Given the description of an element on the screen output the (x, y) to click on. 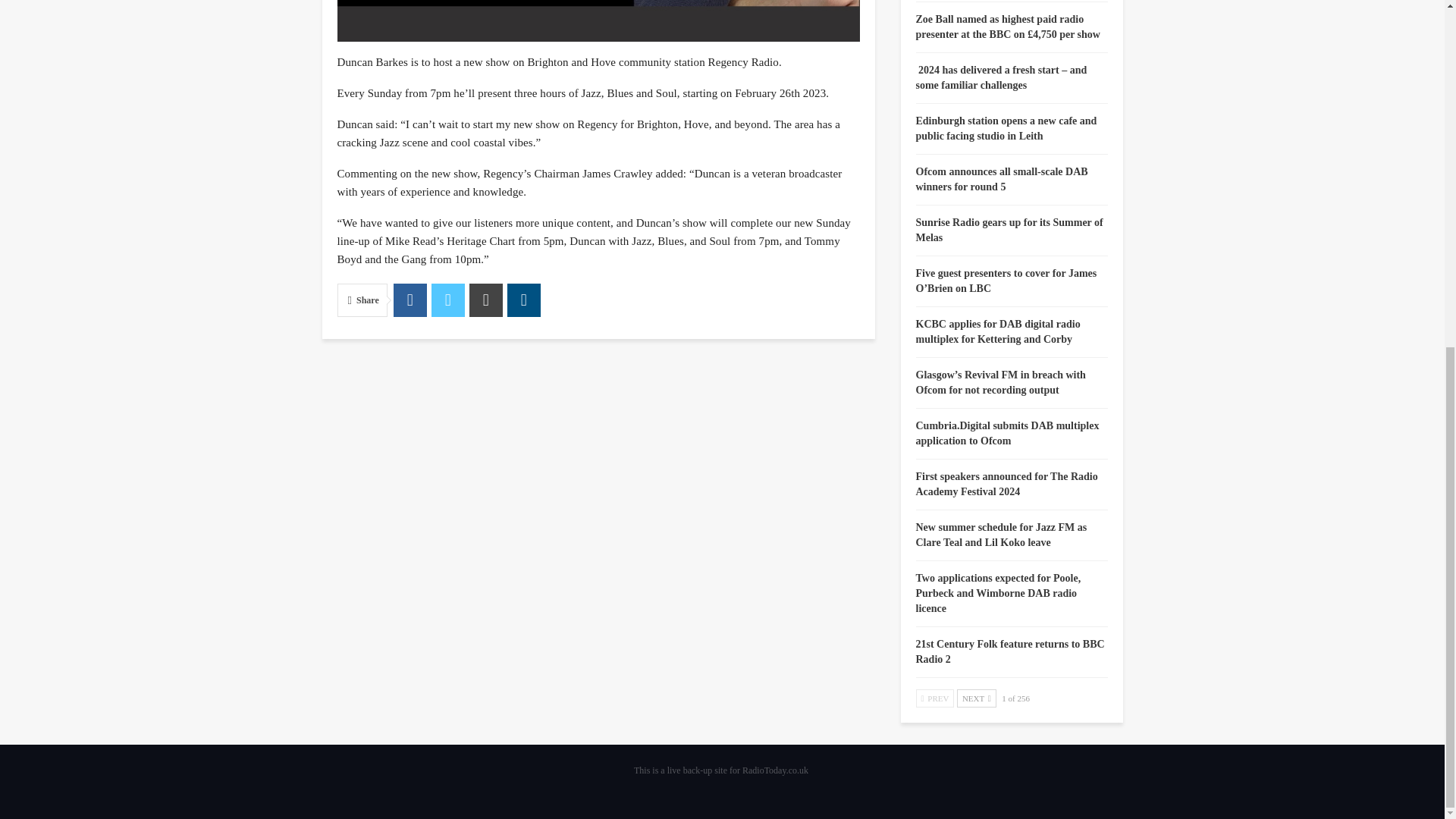
NEXT (975, 698)
PREV (935, 698)
First speakers announced for The Radio Academy Festival 2024 (1006, 483)
Cumbria.Digital submits DAB multiplex application to Ofcom (1007, 433)
21st Century Folk feature returns to BBC Radio 2 (1010, 651)
Sunrise Radio gears up for its Summer of Melas (1009, 230)
Ofcom announces all small-scale DAB winners for round 5 (1001, 179)
Next (975, 698)
Previous (935, 698)
